Given the description of an element on the screen output the (x, y) to click on. 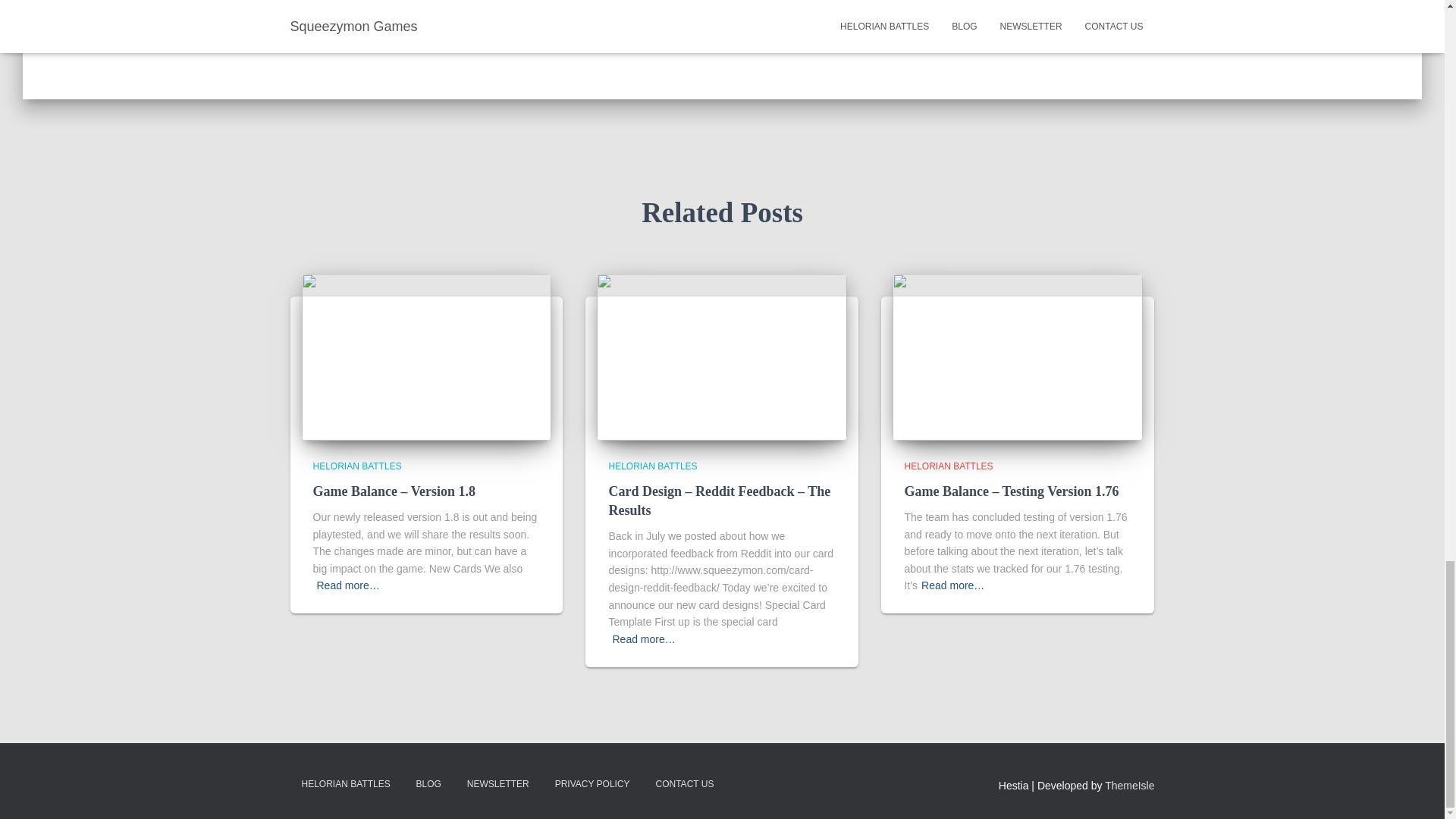
BLOG (428, 784)
PRIVACY POLICY (592, 784)
View all posts in Helorian Battles (357, 466)
HELORIAN BATTLES (652, 466)
NEWSLETTER (497, 784)
View all posts in Helorian Battles (948, 466)
HELORIAN BATTLES (345, 784)
View all posts in Helorian Battles (652, 466)
HELORIAN BATTLES (357, 466)
CONTACT US (685, 784)
